Given the description of an element on the screen output the (x, y) to click on. 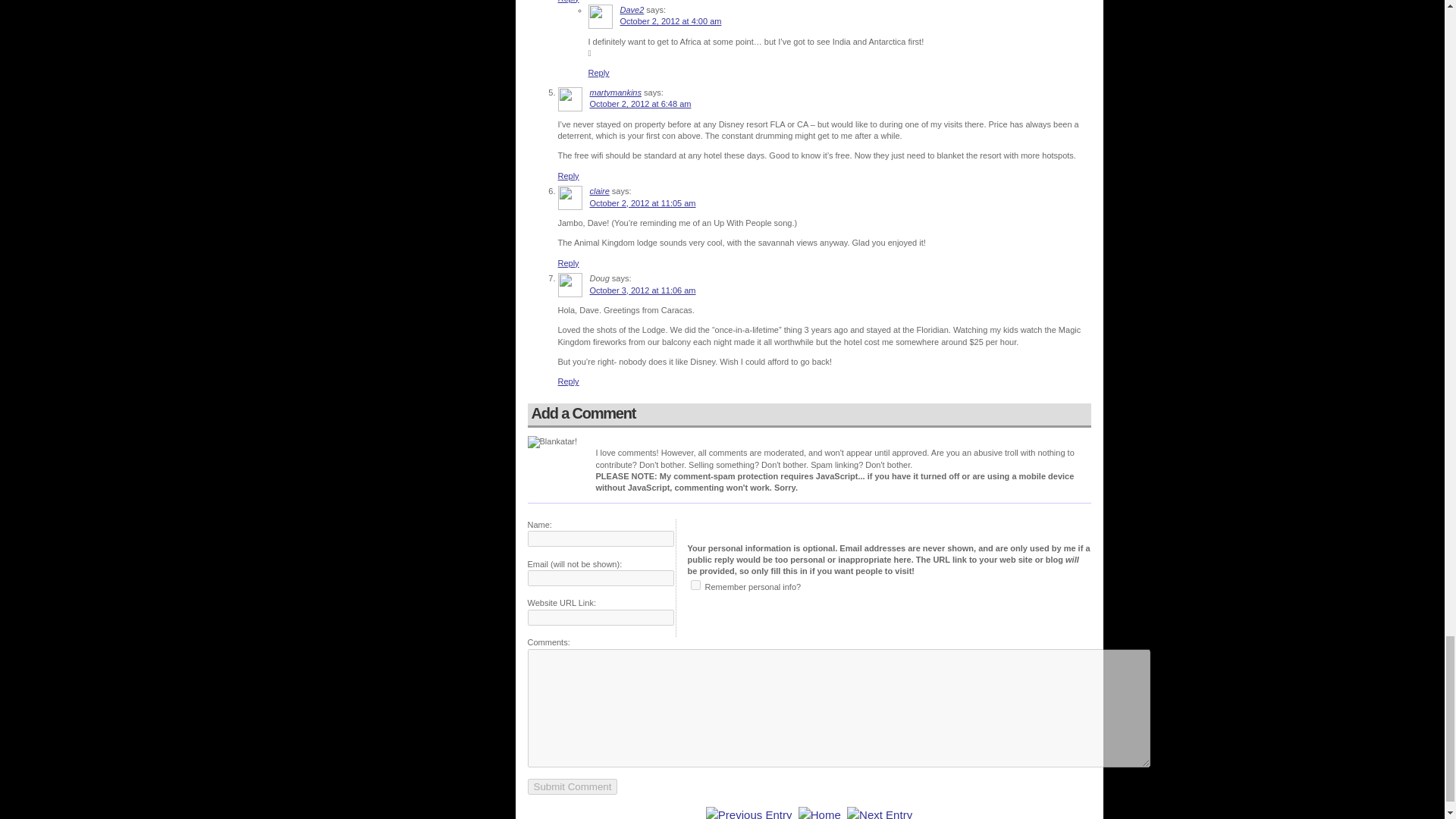
1 (695, 584)
Submit Comment (572, 786)
